Given the description of an element on the screen output the (x, y) to click on. 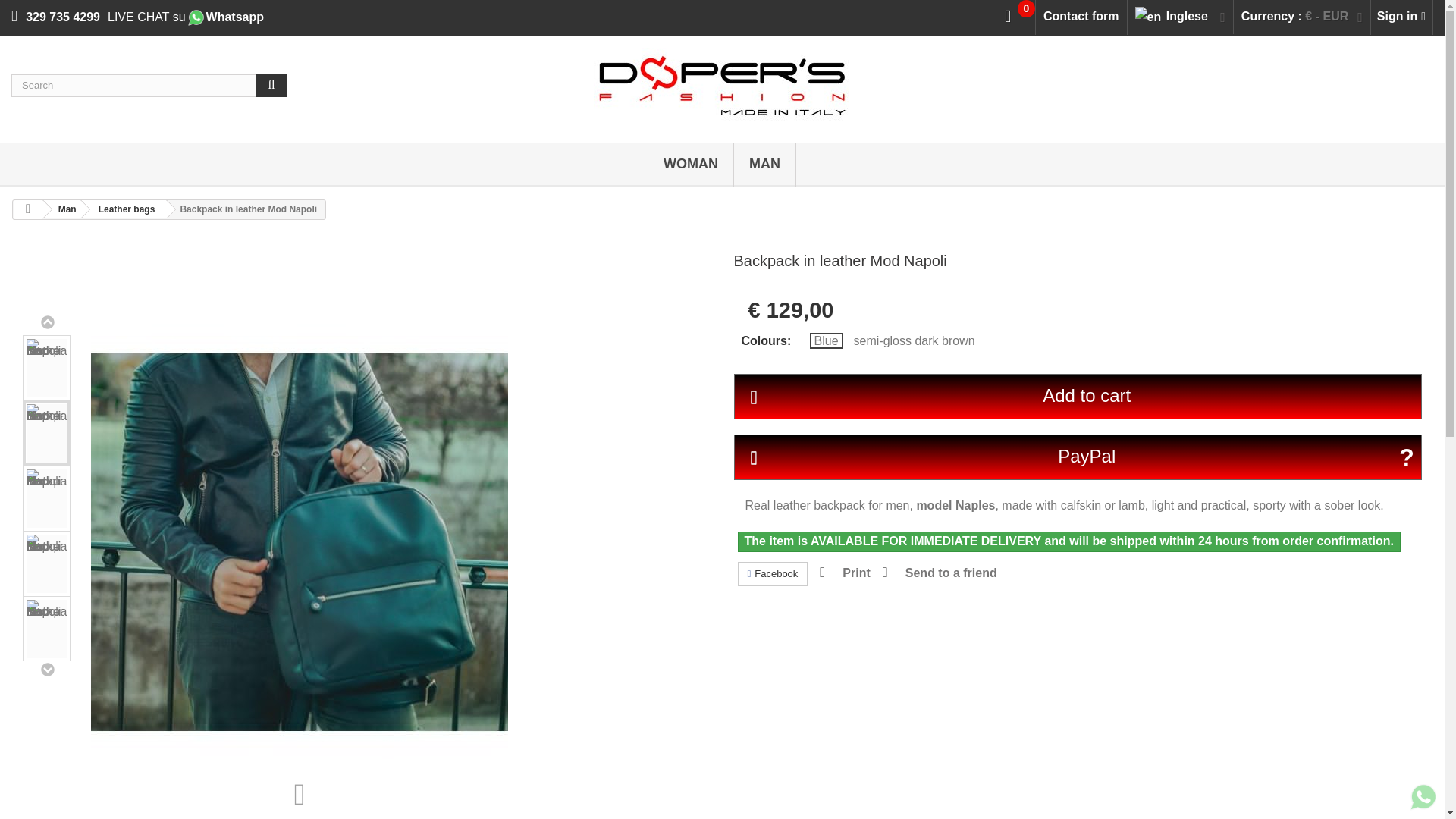
Contact form (1080, 17)
Sign in (1401, 17)
0 (1019, 15)
Other views (47, 324)
Add to cart (1077, 396)
Whatsapp (224, 16)
MAN (763, 164)
WOMAN (690, 164)
Leather bags (124, 208)
Man (64, 208)
DoperS Fashion Made in Italy (722, 85)
PayPal (1077, 456)
Man (64, 208)
View my shopping cart (1019, 15)
Contact form (1080, 17)
